Given the description of an element on the screen output the (x, y) to click on. 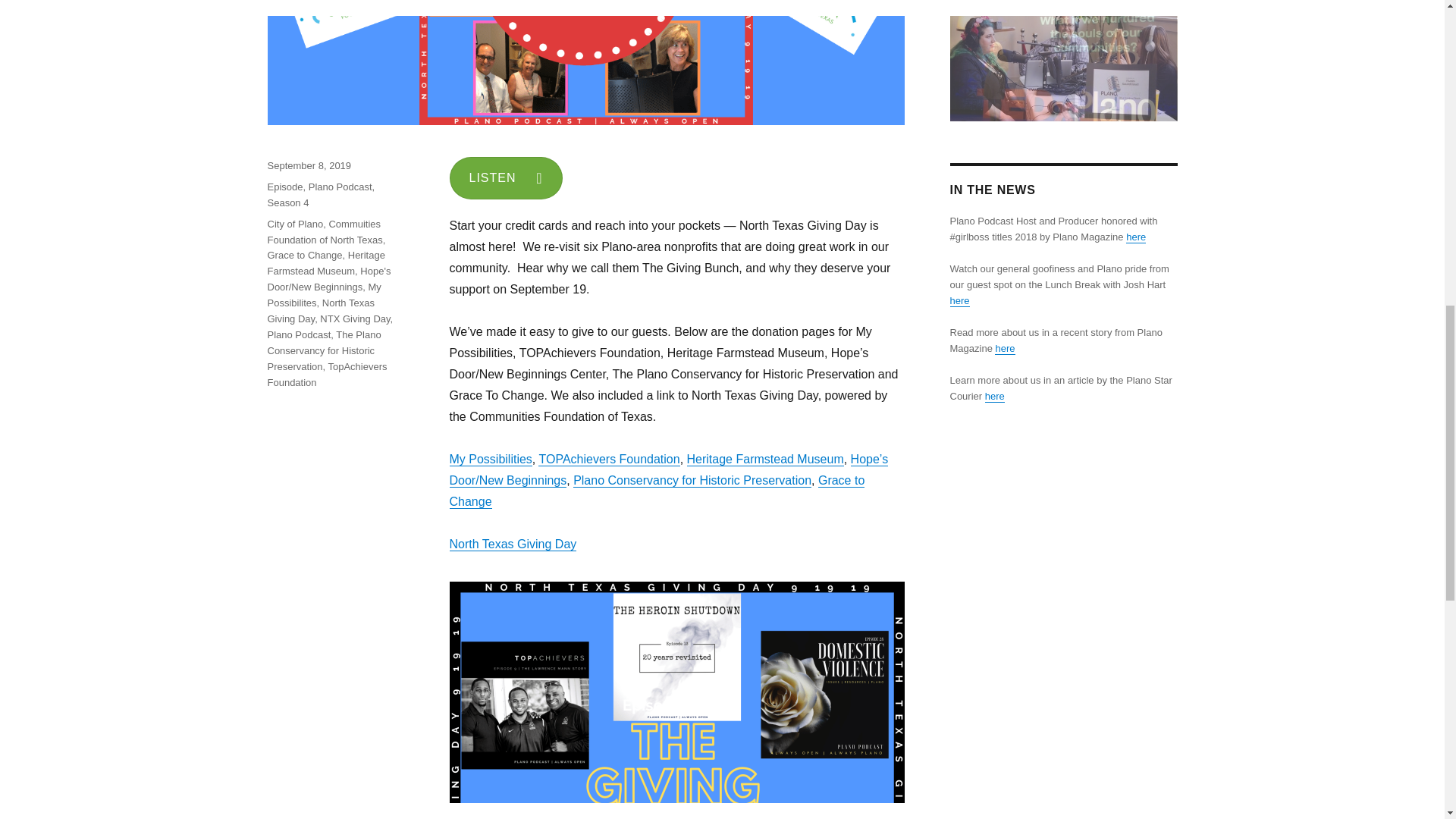
Plano Podcast (340, 186)
Grace to Change (656, 490)
Grace to Change (304, 255)
Commuities Foundation of North Texas (323, 231)
Plano Conservancy for Historic Preservation (691, 480)
My Possibilites (323, 294)
TOPAchievers Foundation (608, 459)
NTX Giving Day (355, 318)
Episode (284, 186)
My Possibilities (489, 459)
